Given the description of an element on the screen output the (x, y) to click on. 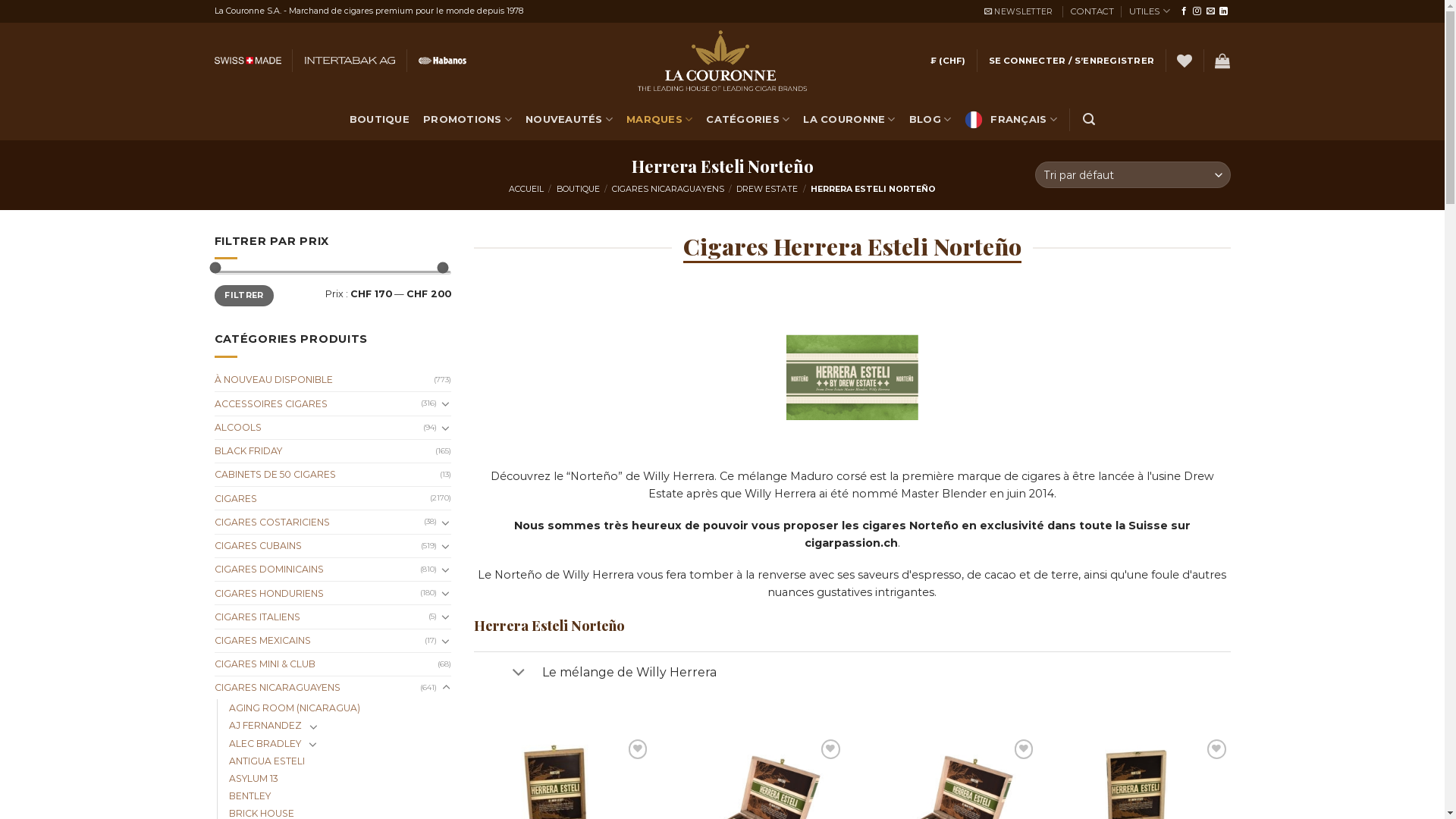
PROMOTIONS Element type: text (467, 118)
BLOG Element type: text (930, 118)
CIGARES MEXICAINS Element type: text (318, 640)
Panier Element type: hover (1222, 60)
AJ FERNANDEZ Element type: text (265, 725)
ASYLUM 13 Element type: text (253, 778)
Follow on Instagram Element type: hover (1196, 10)
CIGARES MINI & CLUB Element type: text (325, 663)
BOUTIQUE Element type: text (577, 189)
CABINETS DE 50 CIGARES Element type: text (326, 474)
ACCUEIL Element type: text (525, 189)
CIGARES COSTARICIENS Element type: text (318, 522)
ALEC BRADLEY Element type: text (265, 743)
CIGARES DOMINICAINS Element type: text (316, 569)
AGING ROOM (NICARAGUA) Element type: text (294, 707)
CIGARES NICARAGUAYENS Element type: text (667, 189)
ACCESSOIRES CIGARES Element type: text (316, 403)
ALCOOLS Element type: text (318, 427)
UTILES Element type: text (1149, 10)
CIGARES ITALIENS Element type: text (320, 616)
BENTLEY Element type: text (249, 795)
CIGARES CUBAINS Element type: text (316, 545)
CIGARES HONDURIENS Element type: text (316, 593)
BLACK FRIDAY Element type: text (324, 450)
Follow on Facebook Element type: hover (1183, 10)
CIGARES Element type: text (321, 498)
BOUTIQUE Element type: text (379, 118)
Send us an email Element type: hover (1210, 10)
FILTRER Element type: text (243, 295)
DREW ESTATE Element type: text (766, 189)
Follow on LinkedIn Element type: hover (1223, 10)
CONTACT Element type: text (1091, 11)
MARQUES Element type: text (659, 118)
ANTIGUA ESTELI Element type: text (266, 761)
CIGARES NICARAGUAYENS Element type: text (316, 687)
NEWSLETTER Element type: text (1018, 11)
LA COURONNE Element type: text (848, 118)
